Given the description of an element on the screen output the (x, y) to click on. 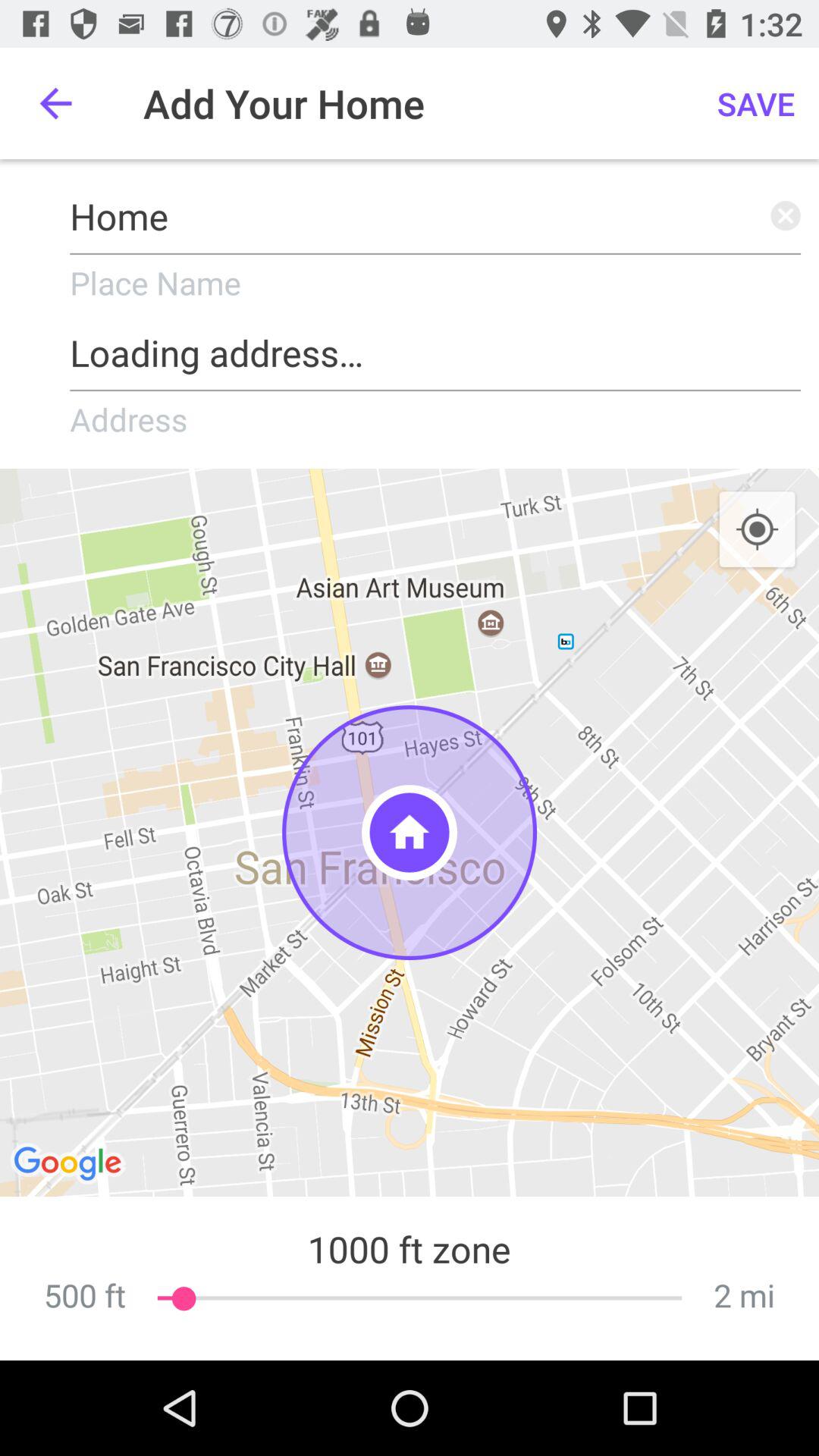
turn on the icon above the home item (756, 103)
